Given the description of an element on the screen output the (x, y) to click on. 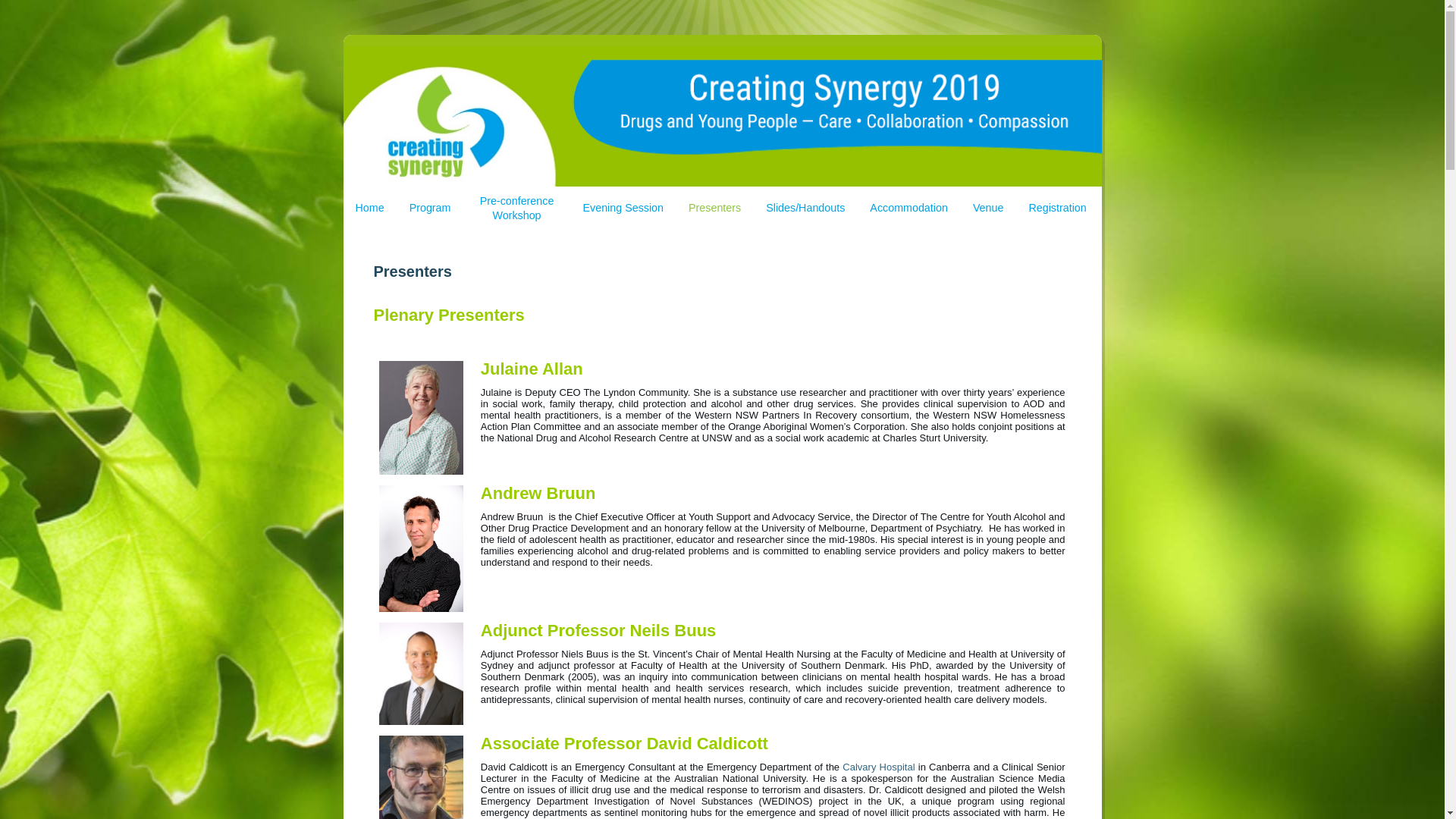
Pre-conference Workshop Element type: text (517, 208)
Slides/Handouts Element type: text (804, 207)
Evening Session Element type: text (623, 207)
Calvary Hospital Element type: text (878, 766)
Registration Element type: text (1057, 207)
Presenters Element type: text (714, 207)
Home Element type: text (368, 207)
Program Element type: text (430, 207)
Accommodation Element type: text (908, 207)
Venue Element type: text (988, 207)
